Given the description of an element on the screen output the (x, y) to click on. 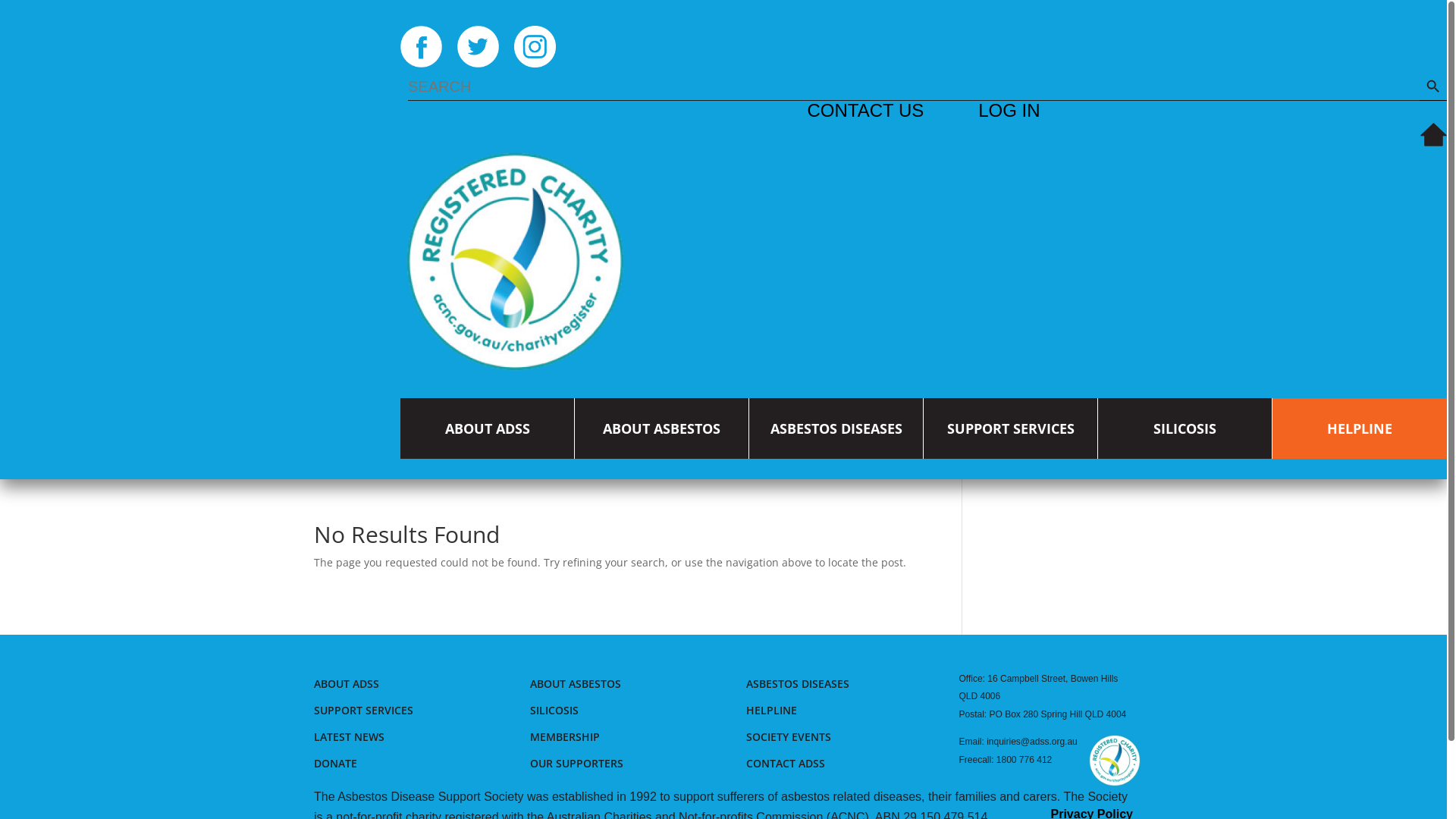
LOG IN Element type: text (1008, 110)
CONTACT ADSS Element type: text (785, 762)
SOCIETY EVENTS Element type: text (788, 736)
ASBESTOS DISEASES Element type: text (797, 683)
Search Button Element type: text (1432, 86)
ASBESTOS DISEASES Element type: text (836, 428)
LATEST NEWS Element type: text (348, 736)
SILICOSIS Element type: text (1185, 428)
HELPLINE Element type: text (771, 709)
OUR SUPPORTERS Element type: text (576, 762)
ABOUT ASBESTOS Element type: text (575, 683)
SUPPORT SERVICES Element type: text (1010, 428)
ABOUT ASBESTOS Element type: text (661, 428)
DONATE Element type: text (335, 762)
ABOUT ADSS Element type: text (346, 683)
SUPPORT SERVICES Element type: text (363, 709)
SILICOSIS Element type: text (554, 709)
MEMBERSHIP Element type: text (564, 736)
CONTACT US Element type: text (864, 110)
HELPLINE Element type: text (1359, 428)
ABOUT ADSS Element type: text (488, 428)
Registered_Charity_Logo Element type: hover (1114, 760)
